Given the description of an element on the screen output the (x, y) to click on. 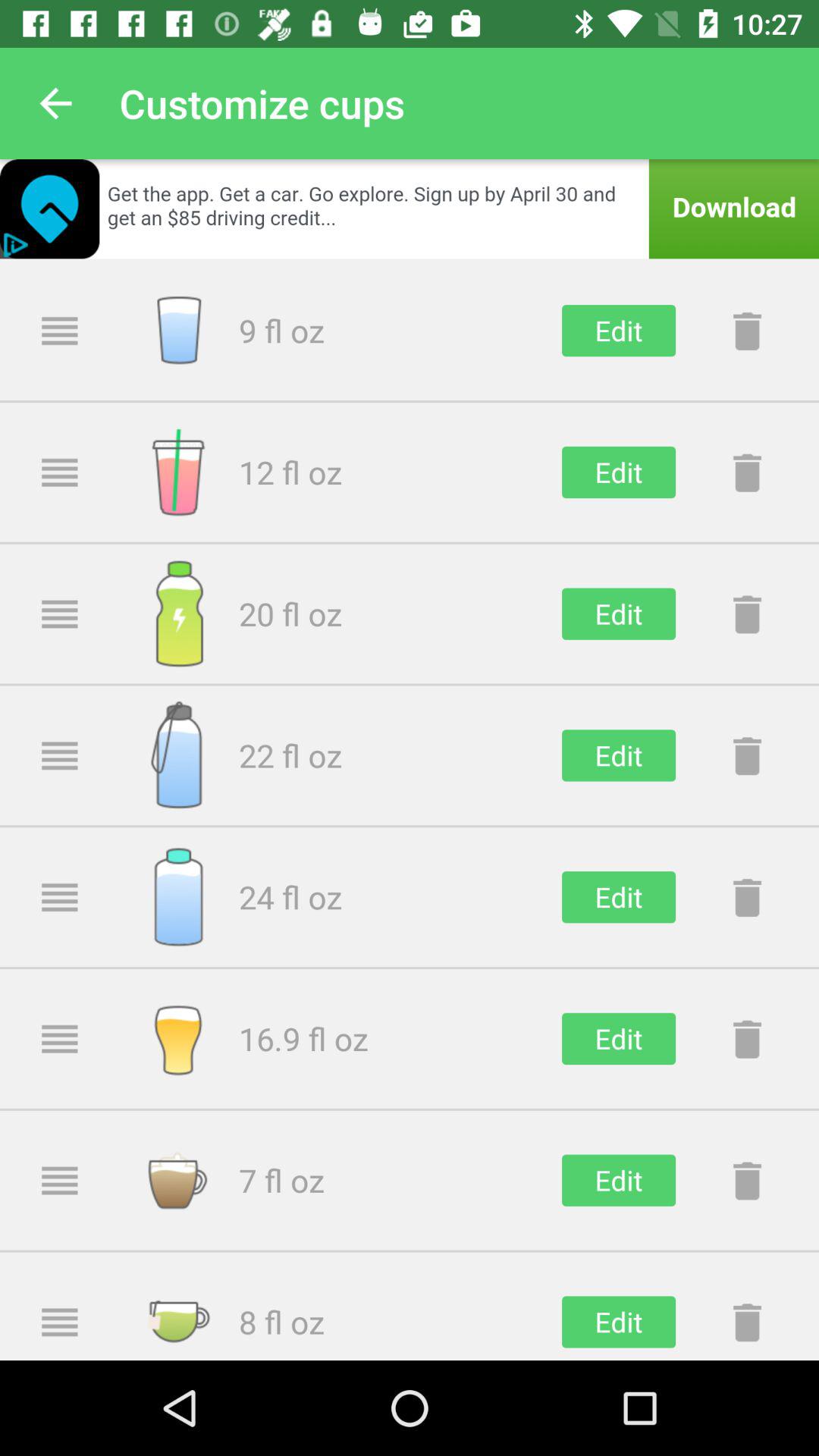
delete this selection (747, 613)
